Given the description of an element on the screen output the (x, y) to click on. 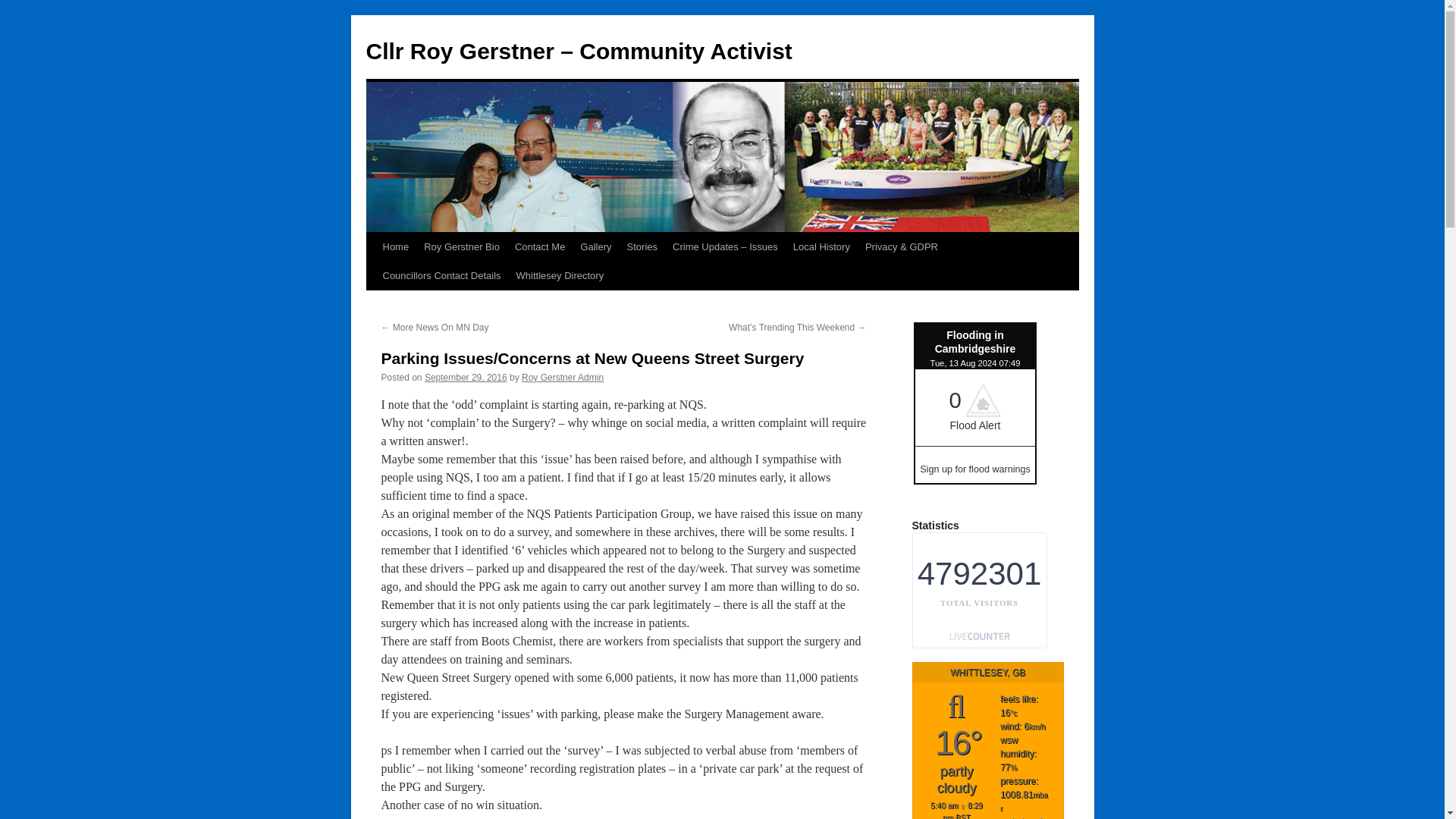
View all posts by Roy Gerstner Admin (562, 377)
Home (395, 246)
Stories (642, 246)
5:34 pm (465, 377)
Gallery (595, 246)
Whittlesey Directory (559, 275)
September 29, 2016 (465, 377)
Roy Gerstner Admin (562, 377)
Councillors Contact Details (441, 275)
Local History (821, 246)
